Given the description of an element on the screen output the (x, y) to click on. 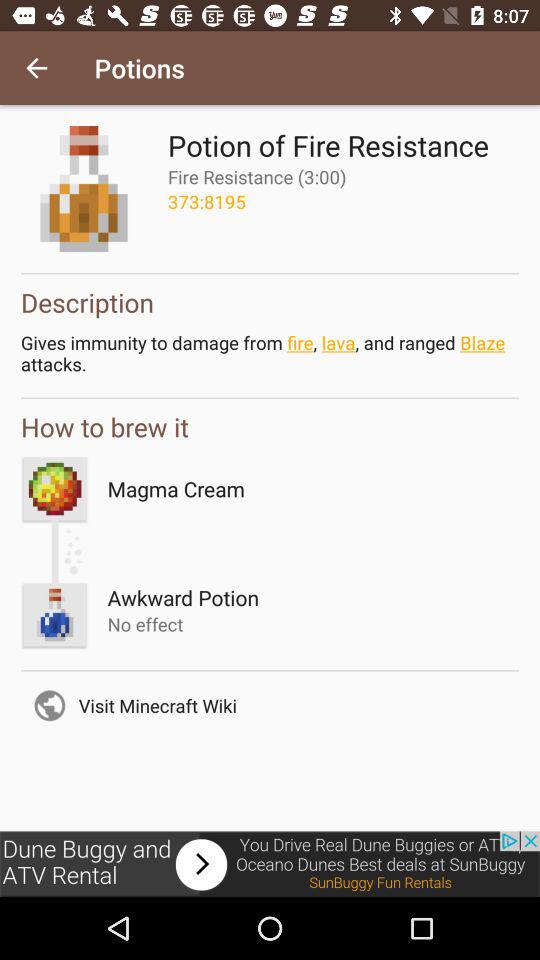
advertising bar (270, 864)
